Given the description of an element on the screen output the (x, y) to click on. 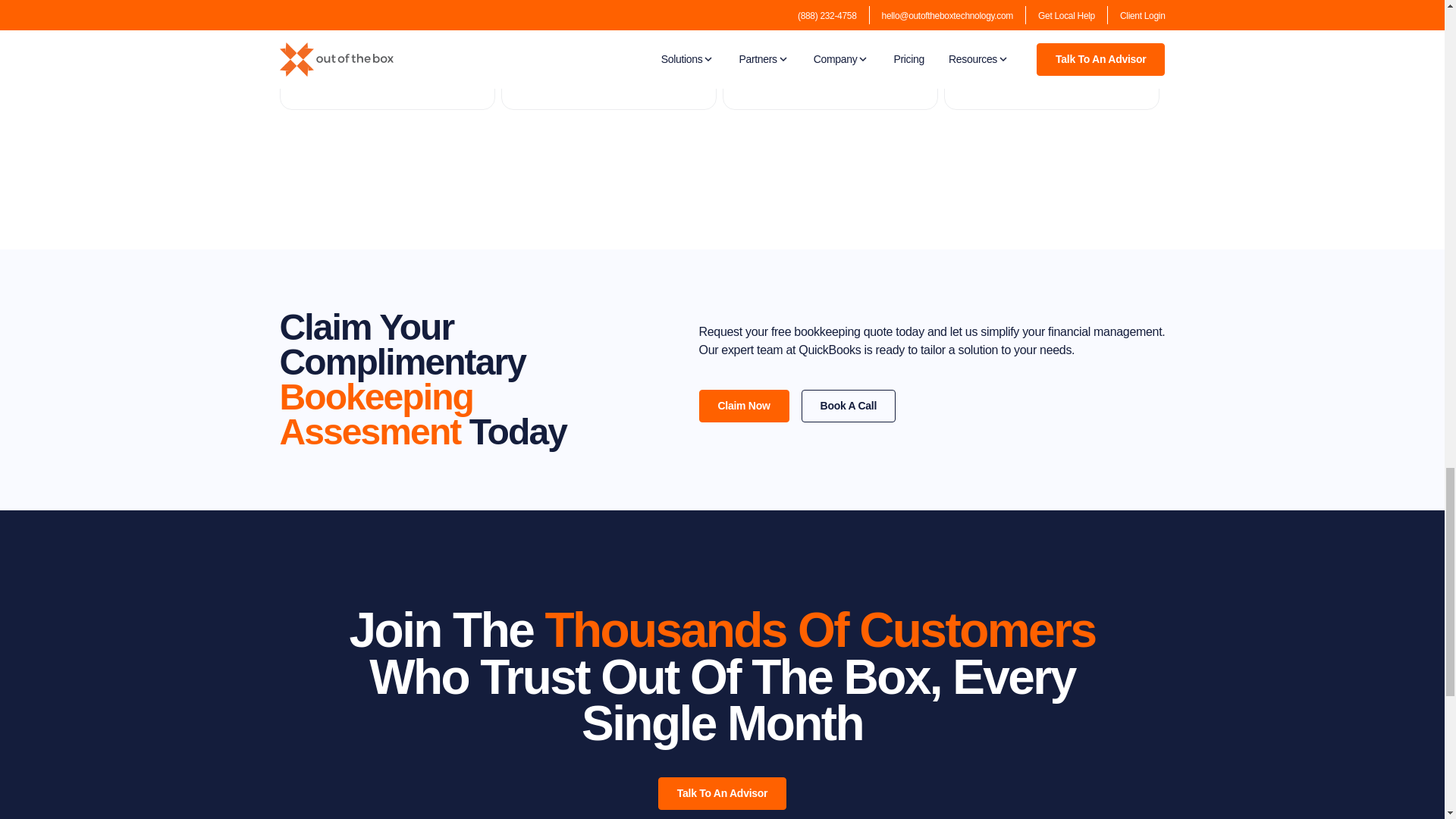
Read More (544, 63)
Read More (323, 63)
Read More (766, 81)
Read More (987, 63)
